Given the description of an element on the screen output the (x, y) to click on. 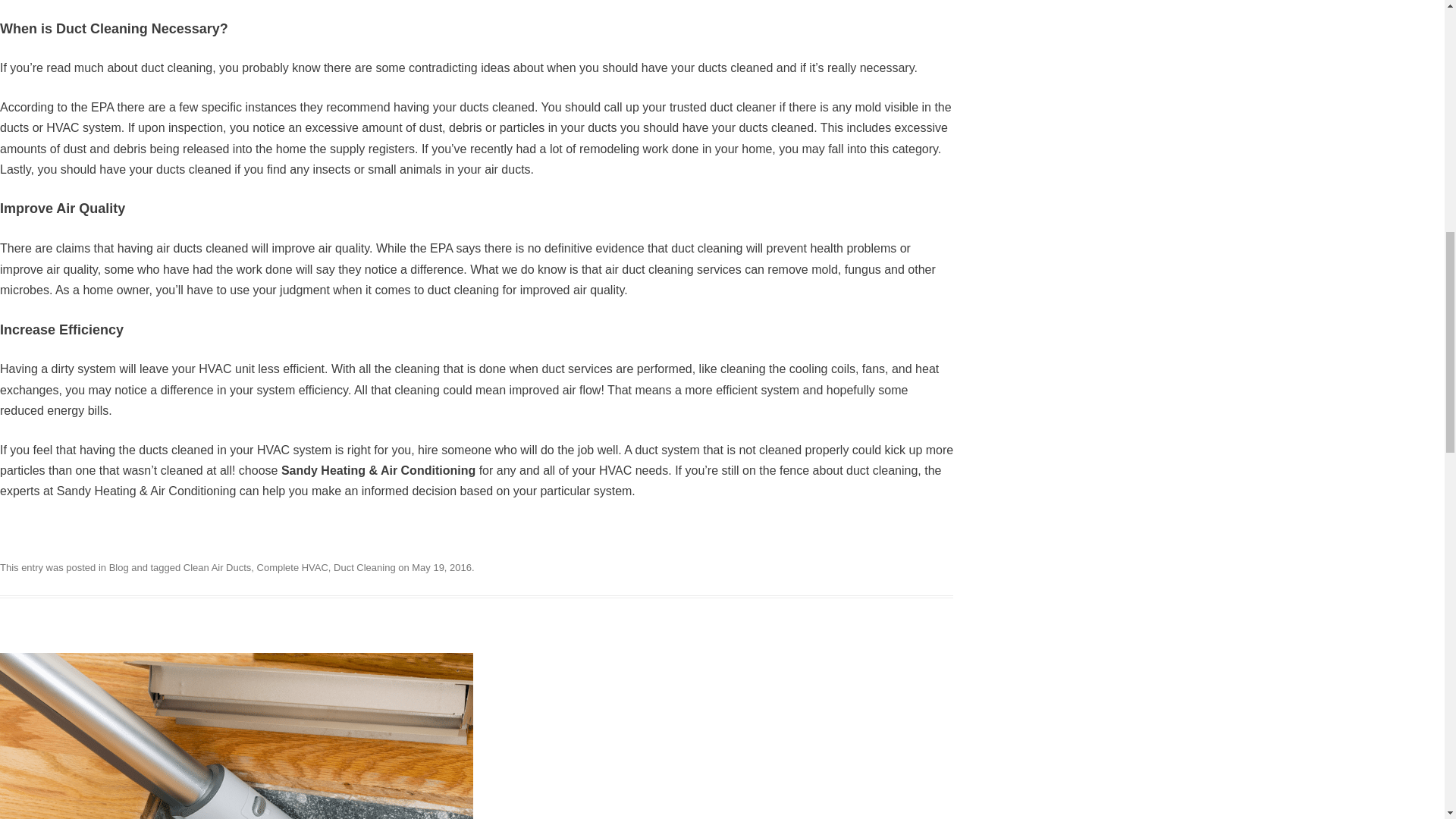
May 19, 2016 (441, 567)
Complete HVAC (293, 567)
Blog (119, 567)
Clean Air Ducts (216, 567)
Duct Cleaning (364, 567)
8:52 pm (441, 567)
